Given the description of an element on the screen output the (x, y) to click on. 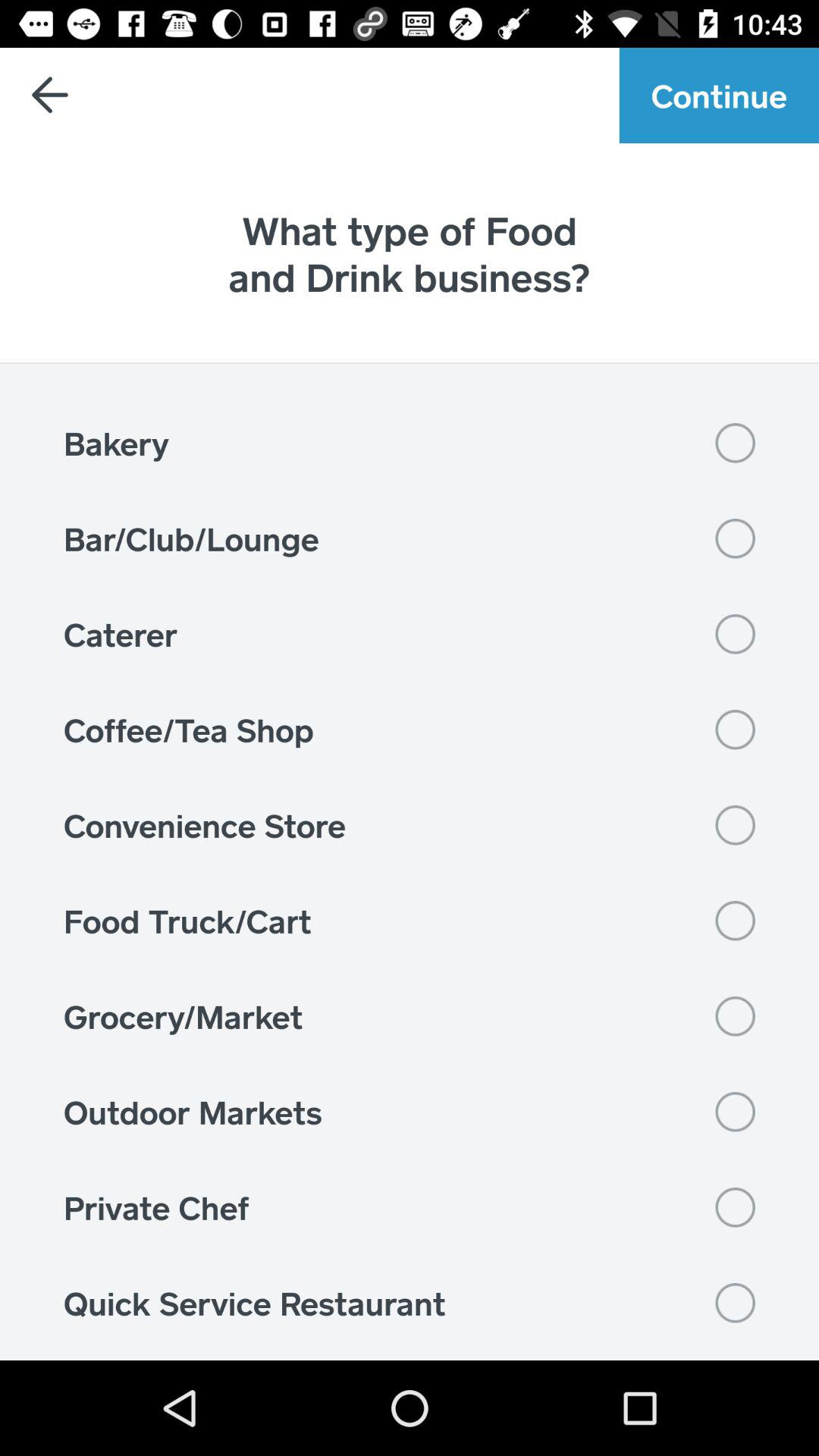
launch the item above caterer item (409, 538)
